Given the description of an element on the screen output the (x, y) to click on. 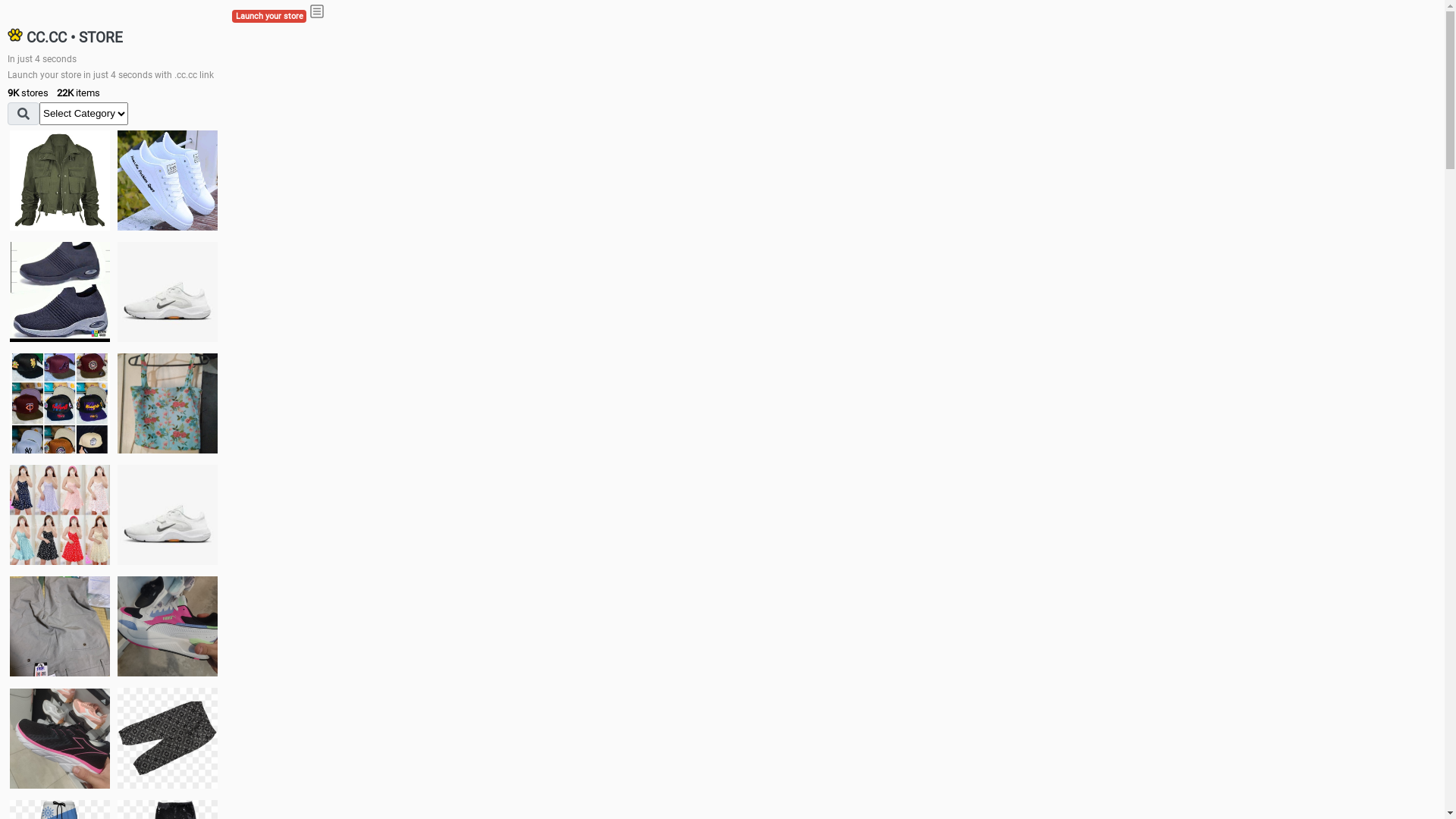
white shoes Element type: hover (167, 180)
Zapatillas pumas Element type: hover (167, 626)
Short pant Element type: hover (167, 737)
Shoes Element type: hover (167, 514)
Shoes for boys Element type: hover (167, 291)
Dress/square nect top Element type: hover (59, 514)
Things we need Element type: hover (59, 403)
Ukay cloth Element type: hover (167, 403)
shoes for boys Element type: hover (59, 291)
Zapatillas Element type: hover (59, 738)
jacket Element type: hover (59, 180)
Launch your store Element type: text (269, 15)
